Given the description of an element on the screen output the (x, y) to click on. 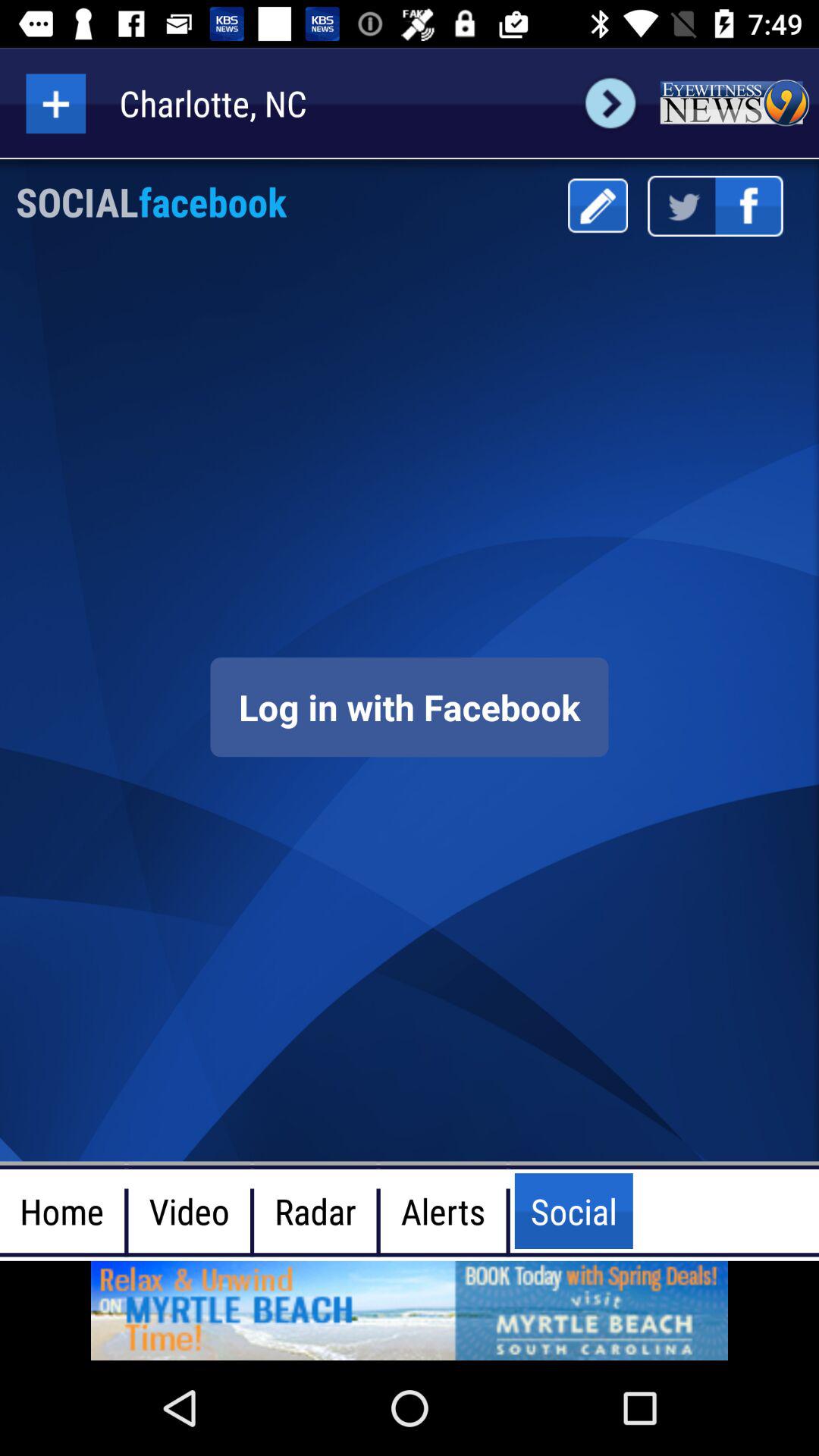
facebook login (409, 707)
